Given the description of an element on the screen output the (x, y) to click on. 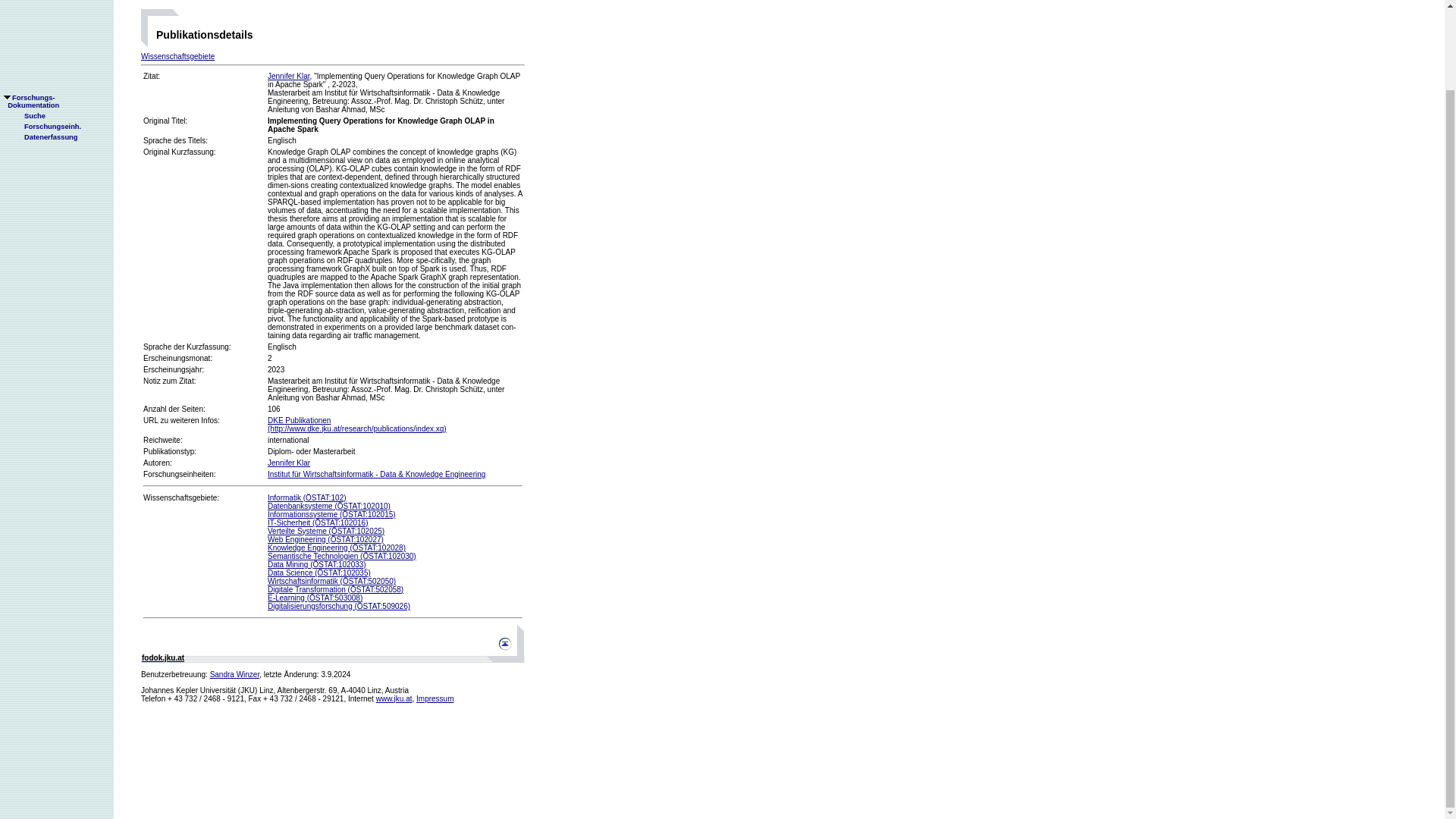
Wissenschaftsgebiete: (180, 497)
Impressum (434, 698)
www.jku.at (393, 698)
Wissenschaftsgebiete (177, 56)
Sandra Winzer (234, 674)
Jennifer Klar (29, 11)
Forschungseinh. (288, 76)
Datenerfassung (46, 36)
Suche (44, 46)
